Given the description of an element on the screen output the (x, y) to click on. 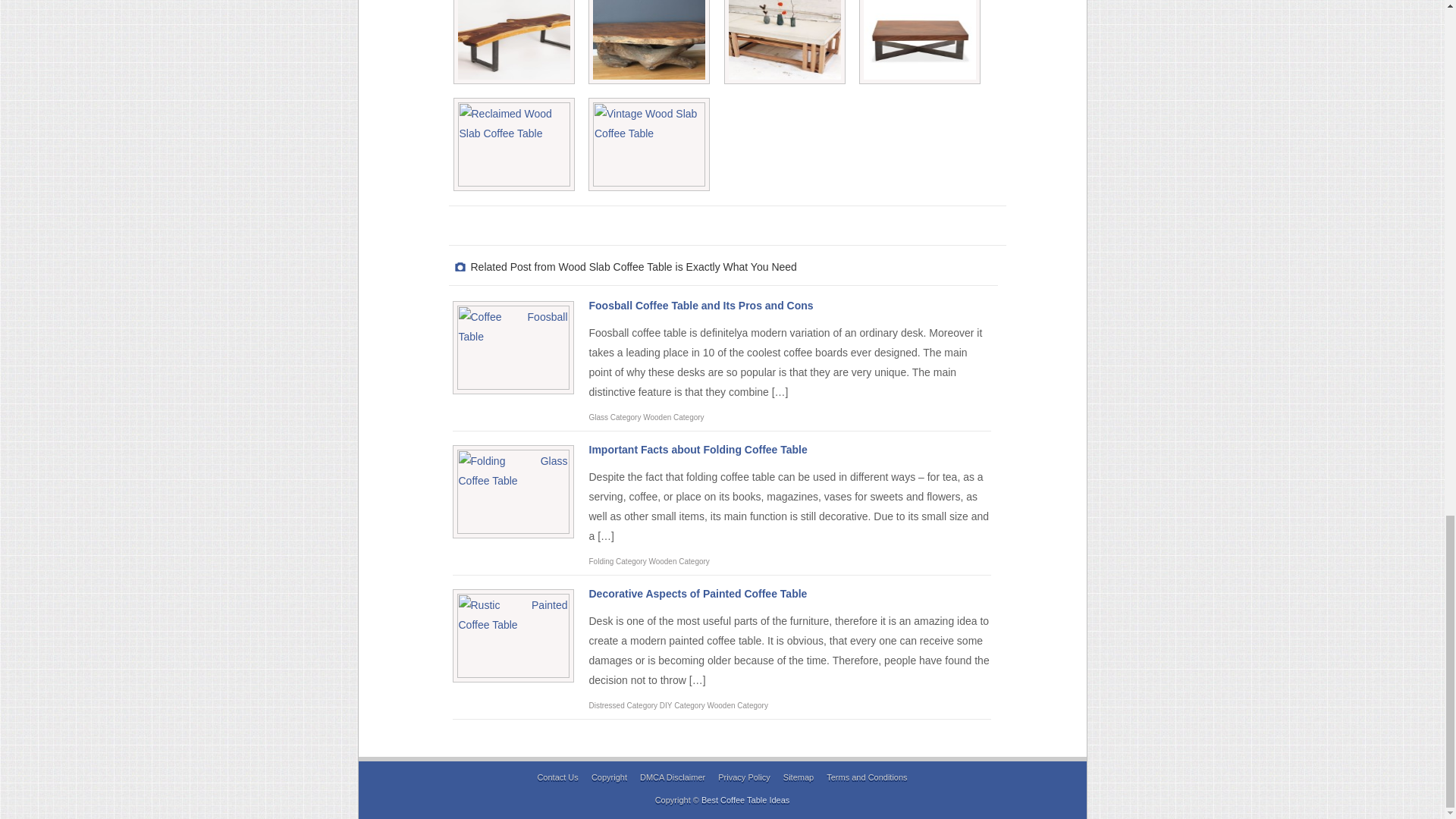
Copyright (609, 777)
Contact Us (557, 777)
Foosball Coffee Table and Its Pros and Cons (700, 305)
DMCA Disclaimer (672, 777)
Important Facts about Folding Coffee Table (697, 449)
Decorative Aspects of Painted Coffee Table (697, 593)
Important Facts about Folding Coffee Table (697, 449)
Decorative Aspects of Painted Coffee Table (697, 593)
Foosball Coffee Table and Its Pros and Cons (700, 305)
